Given the description of an element on the screen output the (x, y) to click on. 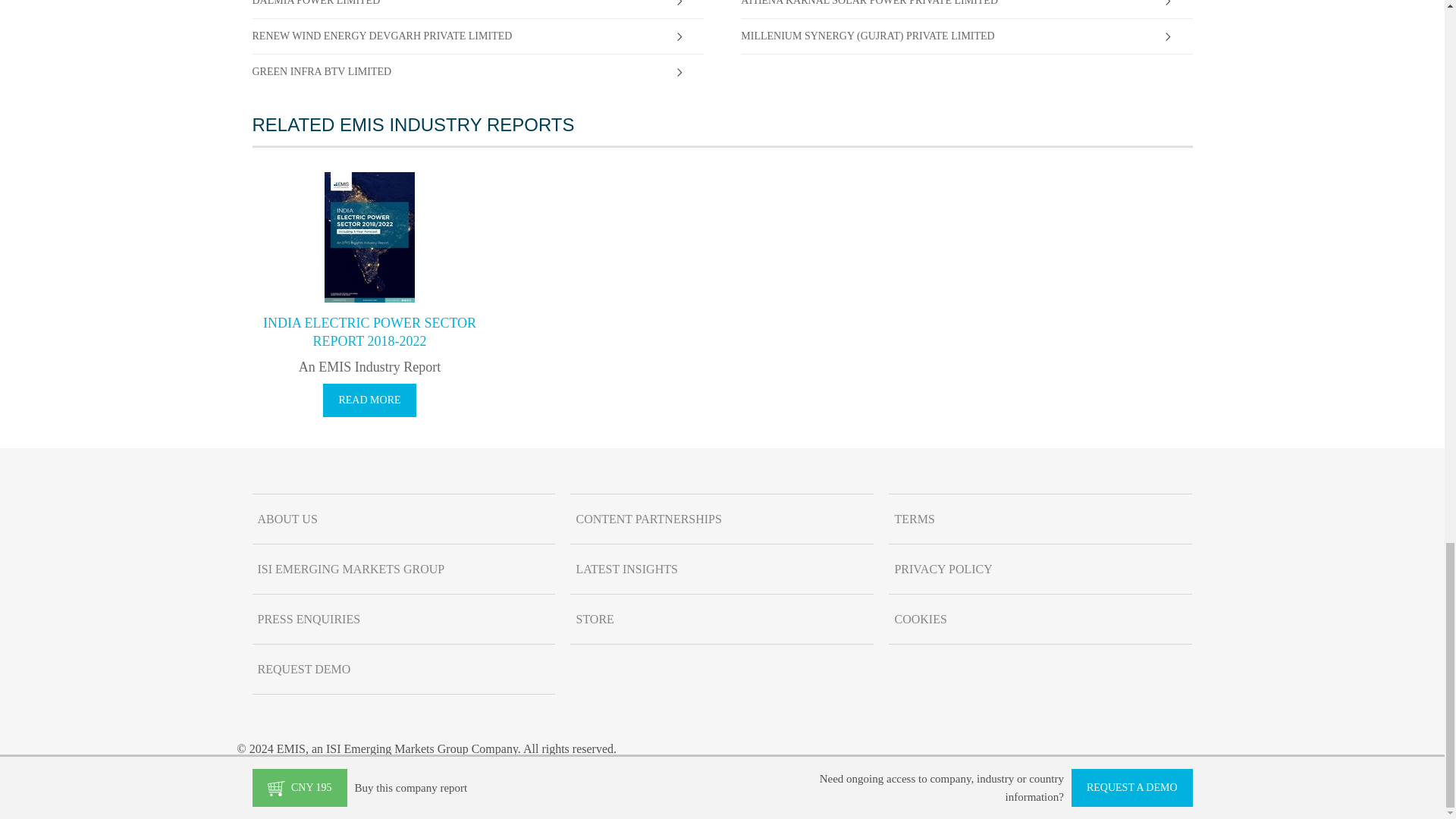
India Electric Power Sector Report 2018-2022 (368, 400)
Content Partnerships (721, 518)
Cookies (1040, 619)
Request demo (402, 669)
India Electric Power Sector Report 2018-2022 (369, 329)
About us (402, 518)
Press Enquiries (402, 619)
Privacy Policy (1040, 569)
Store (721, 619)
Latest Insights (721, 569)
Terms (1040, 518)
ISI Emerging Markets Group (402, 569)
